Given the description of an element on the screen output the (x, y) to click on. 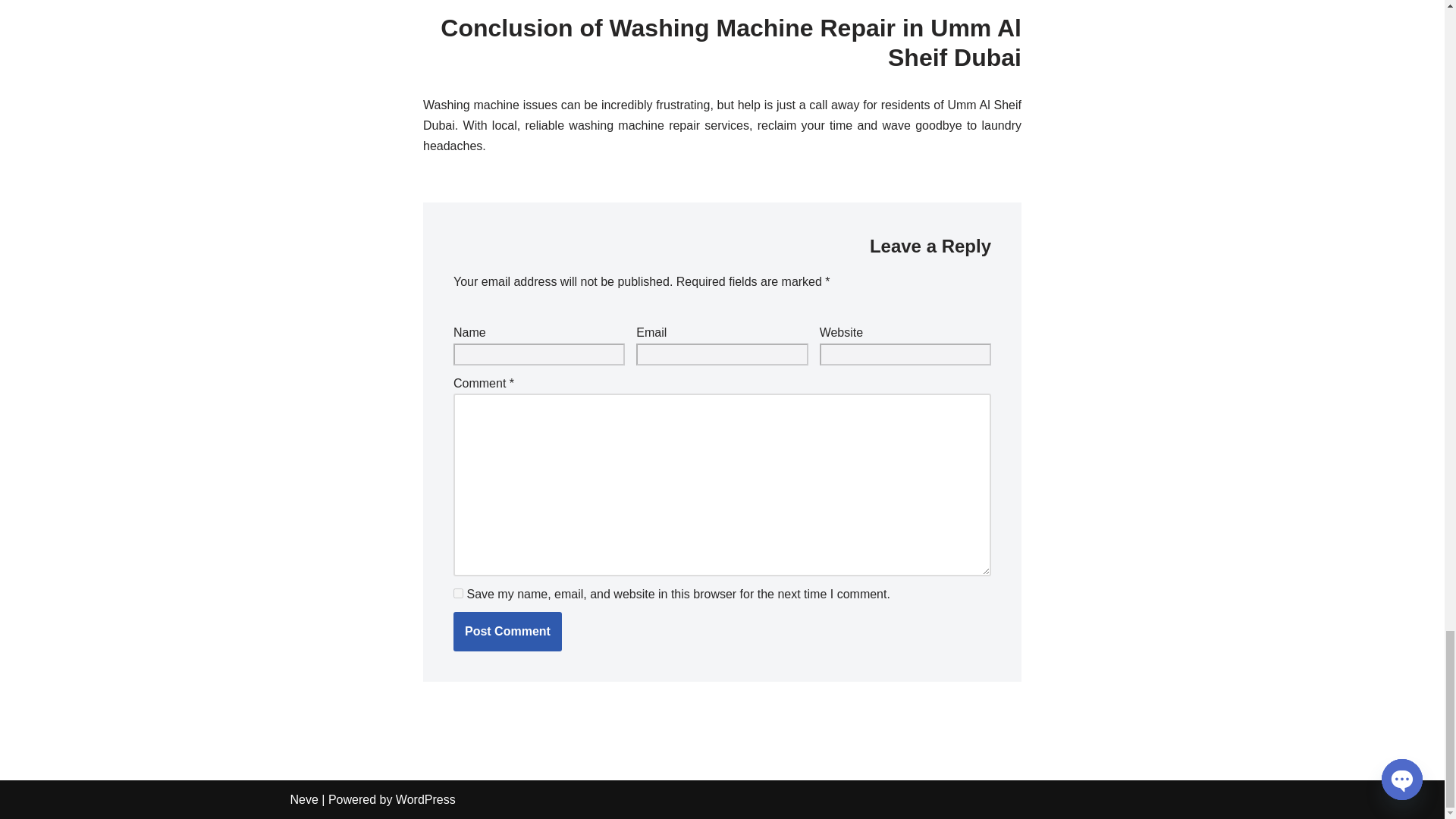
Post Comment (507, 631)
WordPress (425, 799)
Post Comment (507, 631)
Neve (303, 799)
yes (457, 593)
